Given the description of an element on the screen output the (x, y) to click on. 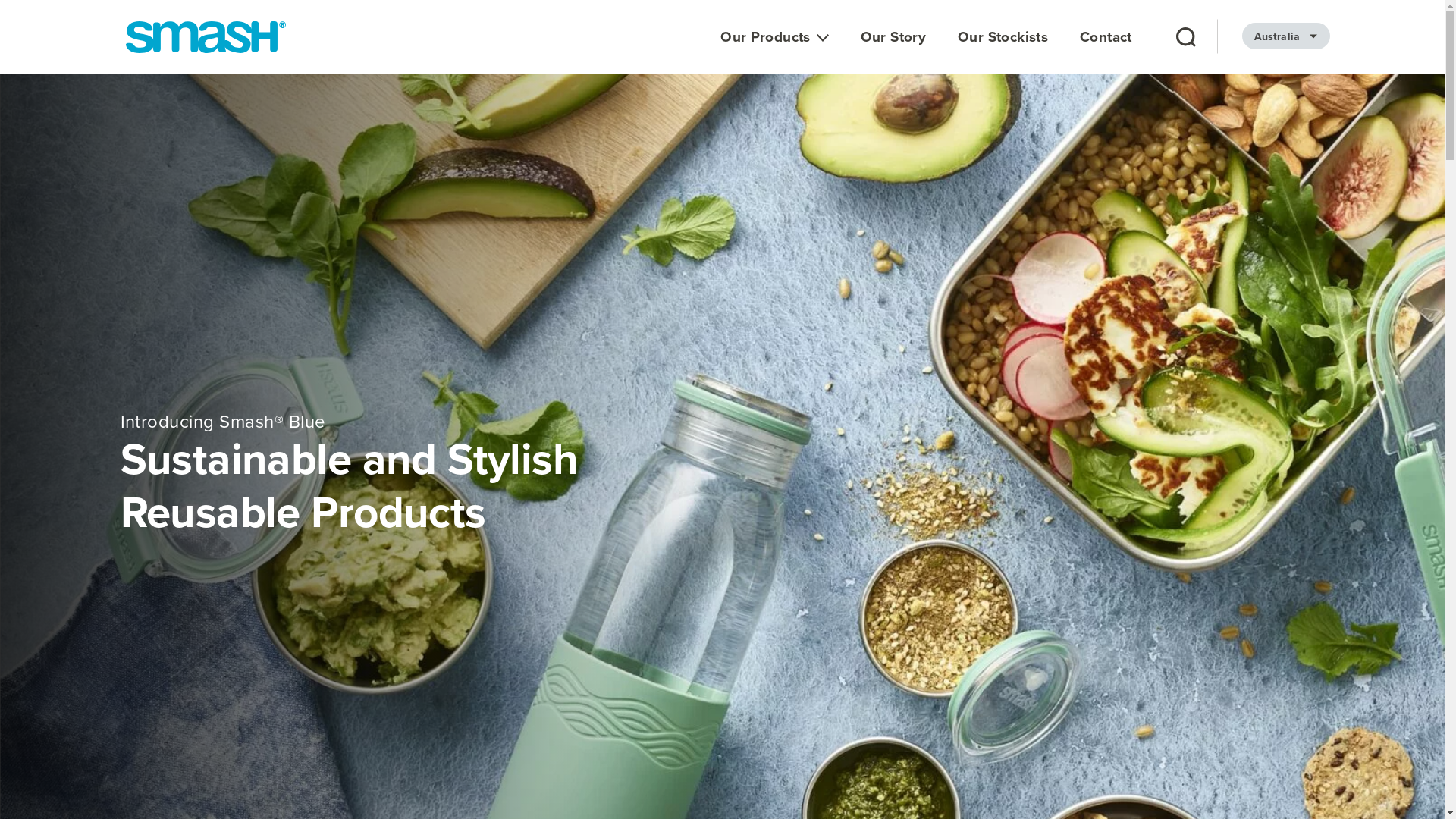
Contact Element type: text (1105, 50)
Our Products Element type: text (774, 50)
Our Story Element type: text (892, 50)
Skip to content Element type: text (0, 0)
Our Stockists Element type: text (1002, 50)
